Given the description of an element on the screen output the (x, y) to click on. 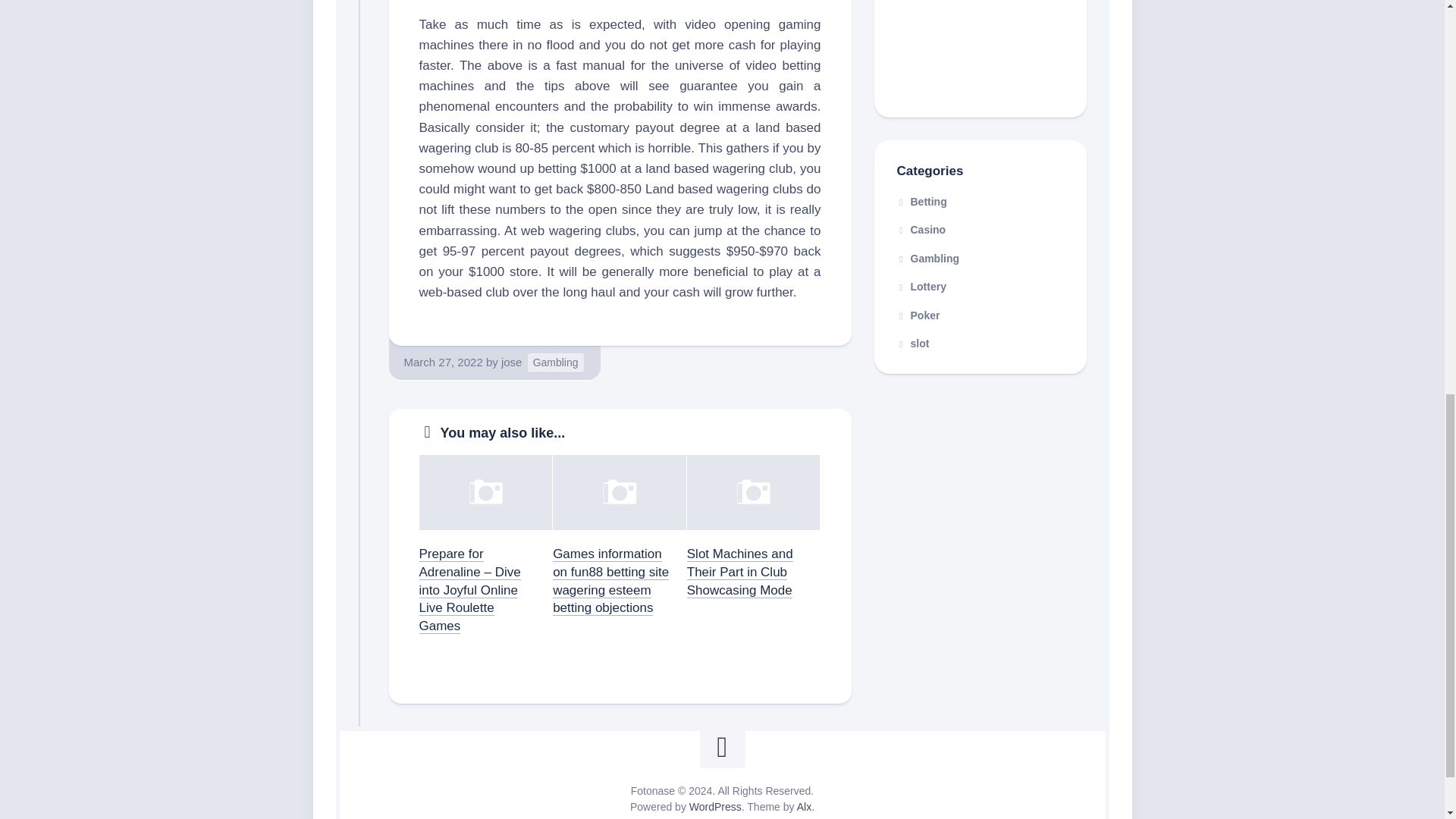
Slot Machines and Their Part in Club Showcasing Mode (740, 572)
Alx (803, 806)
Casino (920, 229)
Lottery (920, 286)
Posts by jose (511, 361)
Gambling (927, 258)
jose (511, 361)
WordPress (714, 806)
Betting (921, 201)
